Given the description of an element on the screen output the (x, y) to click on. 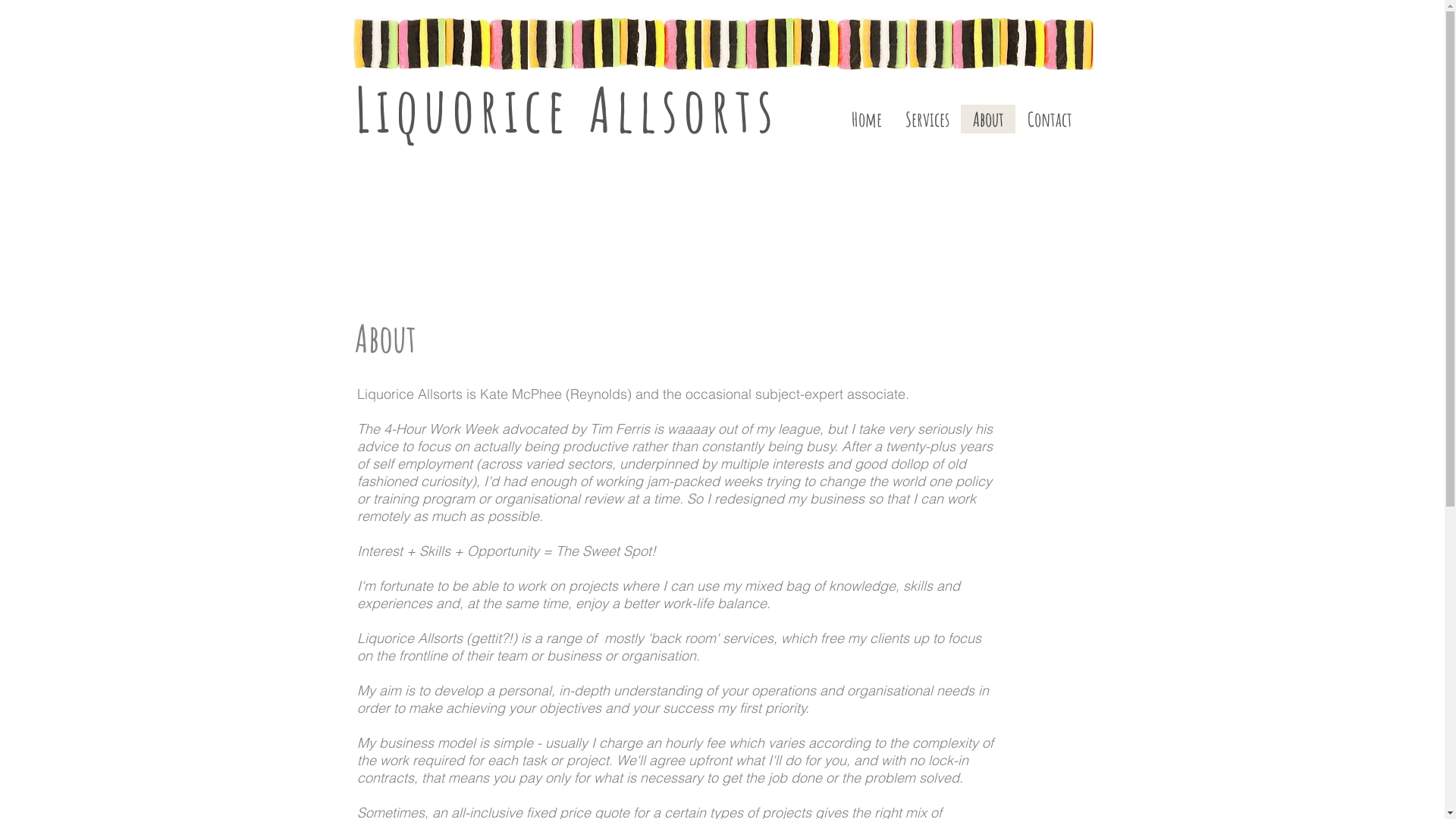
Contact Element type: text (1048, 118)
5250893_s-compressed_edited.jpg Element type: hover (620, 43)
Liquorice Allsorts Element type: text (566, 108)
5250893_s-compressed_edited.jpg Element type: hover (446, 43)
5250893_s-compressed_edited.jpg Element type: hover (793, 43)
Home Element type: text (865, 118)
About Element type: text (987, 118)
Services Element type: text (926, 118)
5250893_s-compressed_edited.jpg Element type: hover (999, 43)
5250893_s-compressed_edited.jpg Element type: hover (954, 43)
